Given the description of an element on the screen output the (x, y) to click on. 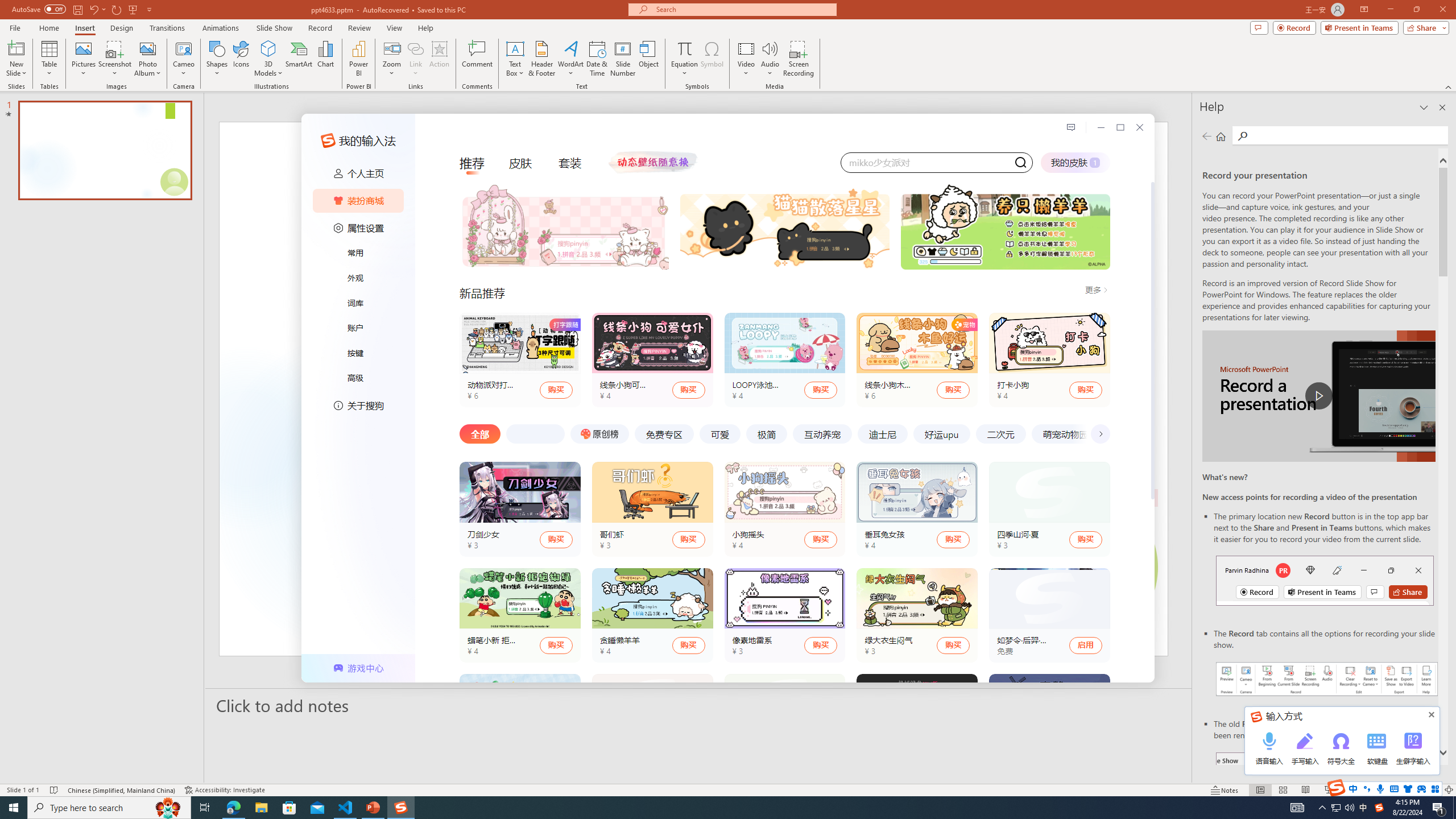
Comment (476, 58)
Object... (649, 58)
Record your presentations screenshot one (1326, 678)
